Given the description of an element on the screen output the (x, y) to click on. 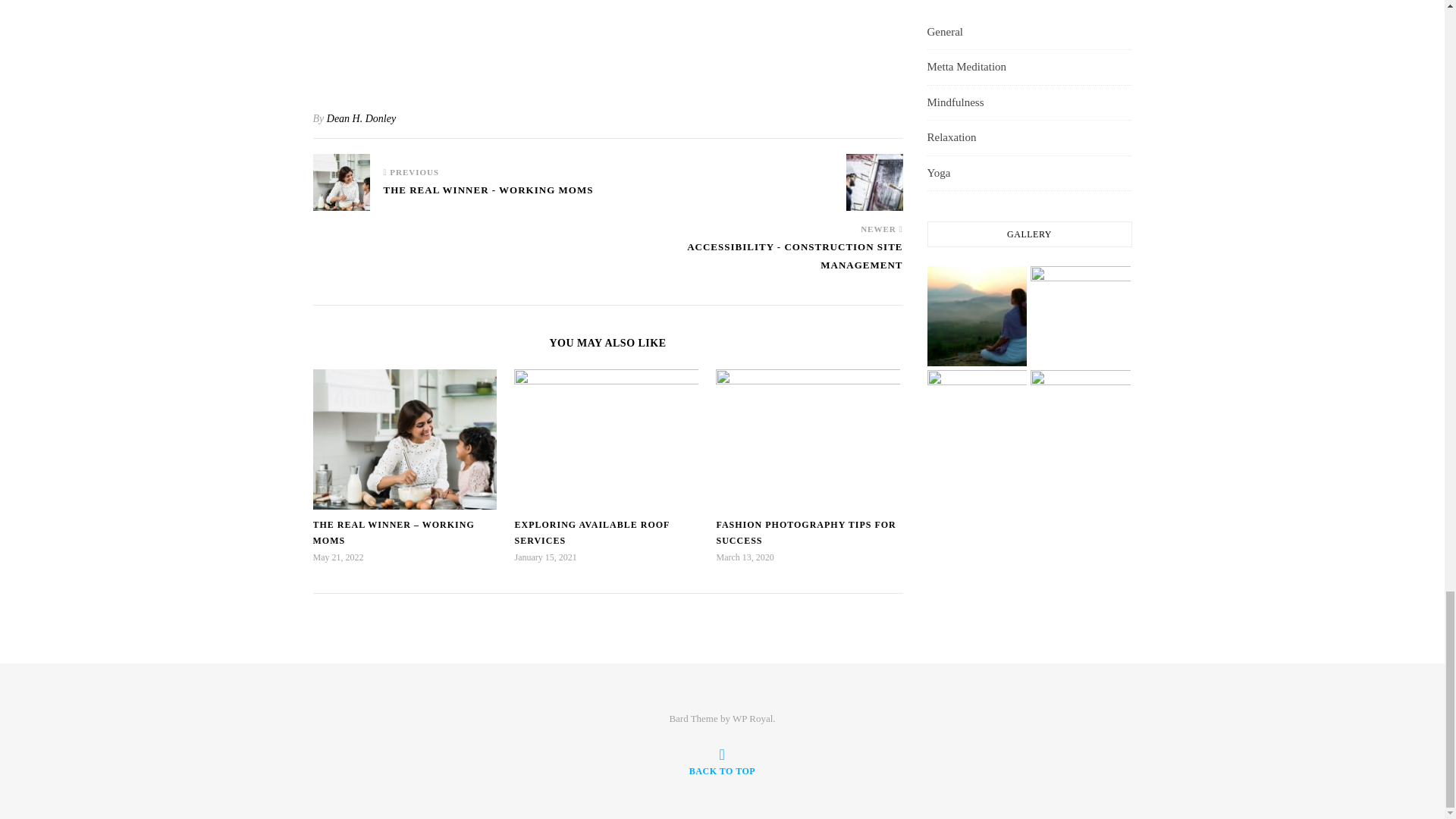
Posts by Dean H. Donley (361, 118)
BACK TO TOP (722, 761)
The Real Winner - Working Moms (489, 196)
Dean H. Donley (361, 118)
THE REAL WINNER - WORKING MOMS (489, 196)
The Real Winner - Working Moms (341, 181)
Accessibility - Construction Site Management (873, 181)
ACCESSIBILITY - CONSTRUCTION SITE MANAGEMENT (755, 263)
Accessibility - Construction Site Management (755, 263)
YouTube video player (607, 40)
